Given the description of an element on the screen output the (x, y) to click on. 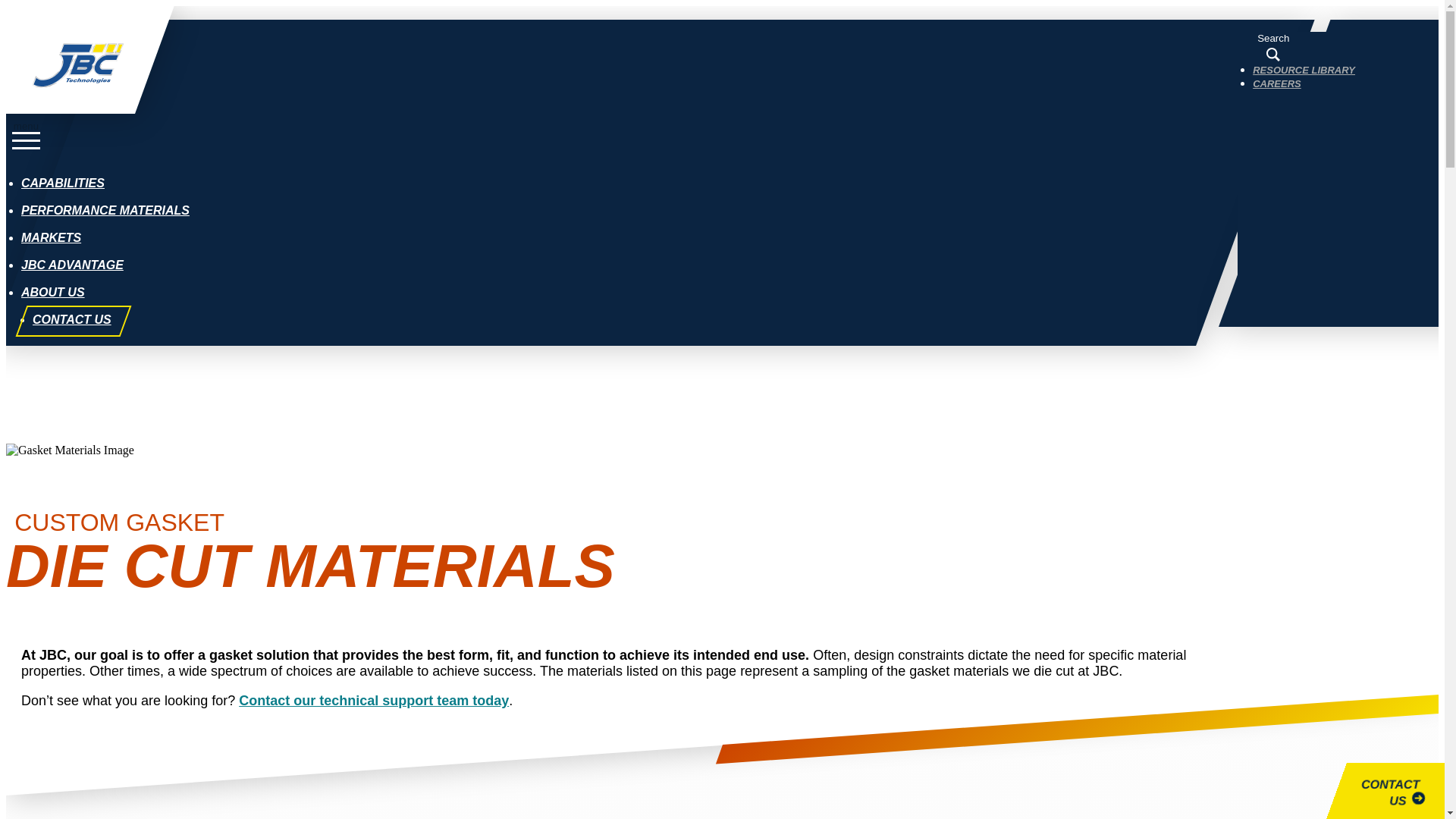
Skip to Content (50, 11)
menu (25, 137)
PERFORMANCE MATERIALS (105, 210)
Contact Us (373, 699)
CAPABILITIES (62, 182)
